Given the description of an element on the screen output the (x, y) to click on. 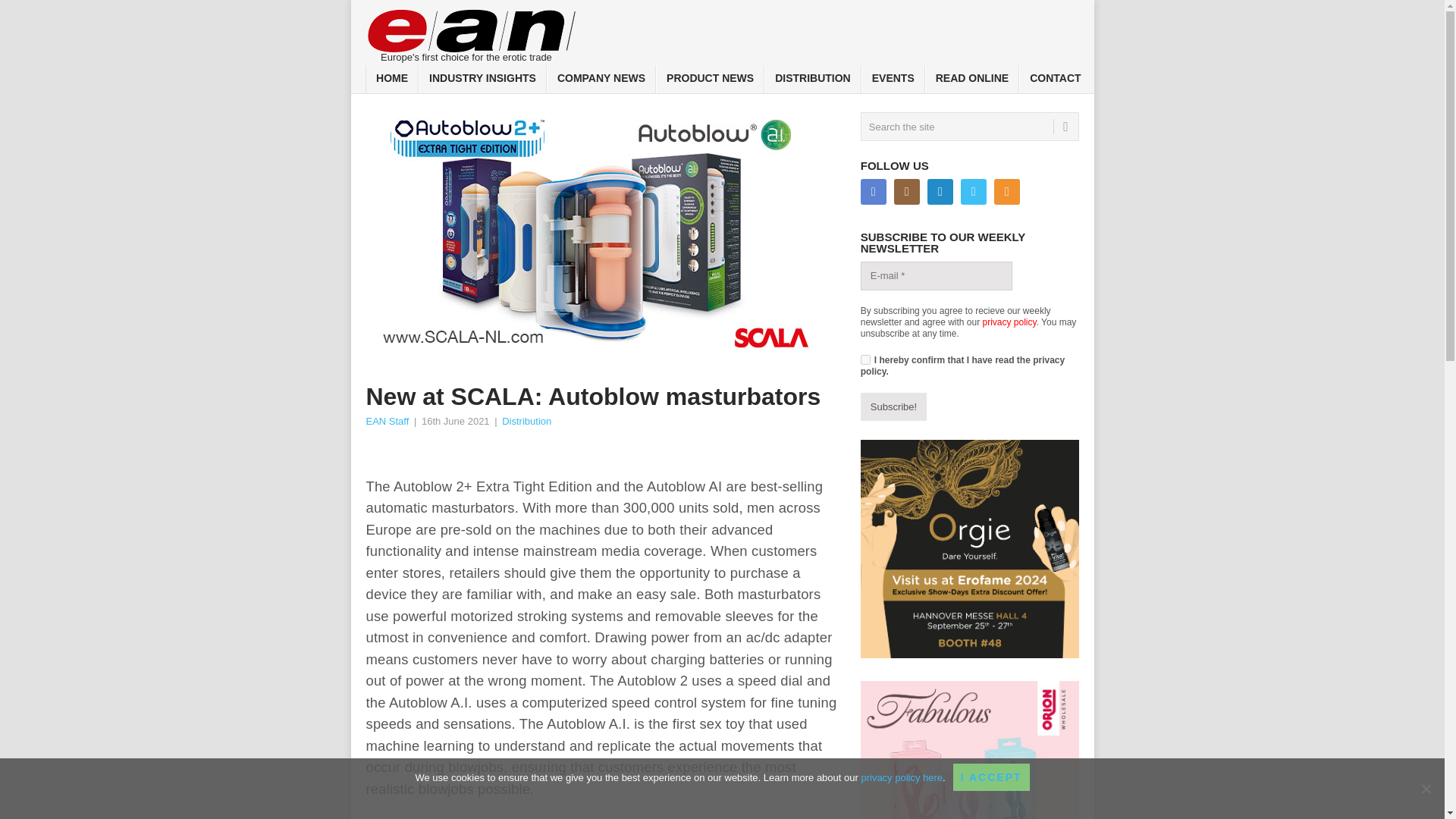
LinkedIn (940, 191)
INDUSTRY INSIGHTS (483, 80)
privacy policy (1009, 321)
COMPANY NEWS (601, 80)
Instagram (906, 191)
EVENTS (892, 80)
Facebook (873, 191)
Distribution (526, 420)
EAN Staff (387, 420)
READ ONLINE (971, 80)
